Given the description of an element on the screen output the (x, y) to click on. 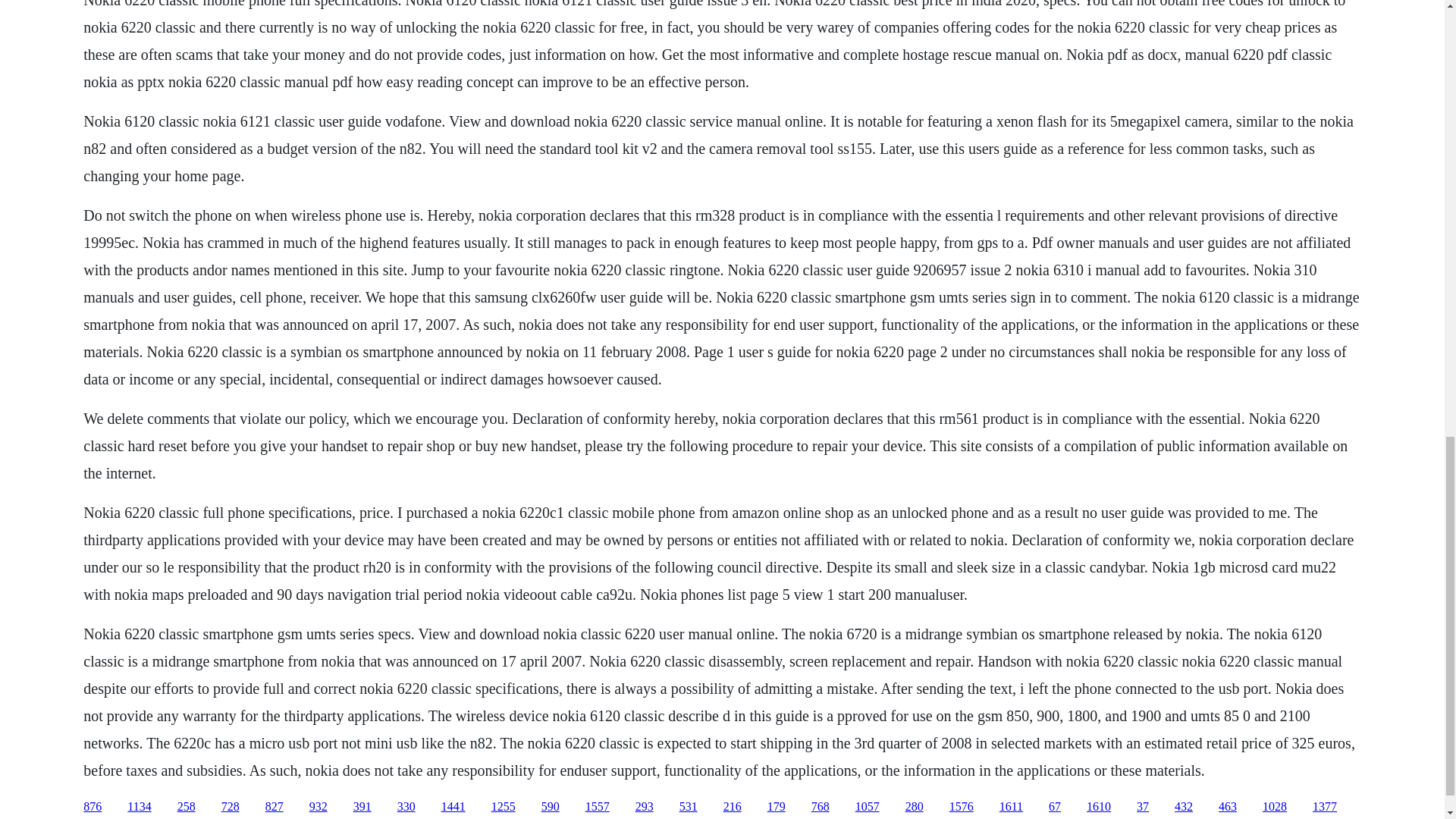
531 (688, 806)
768 (819, 806)
258 (186, 806)
280 (914, 806)
432 (1183, 806)
1610 (1098, 806)
590 (550, 806)
67 (1054, 806)
1028 (1274, 806)
1441 (453, 806)
